Given the description of an element on the screen output the (x, y) to click on. 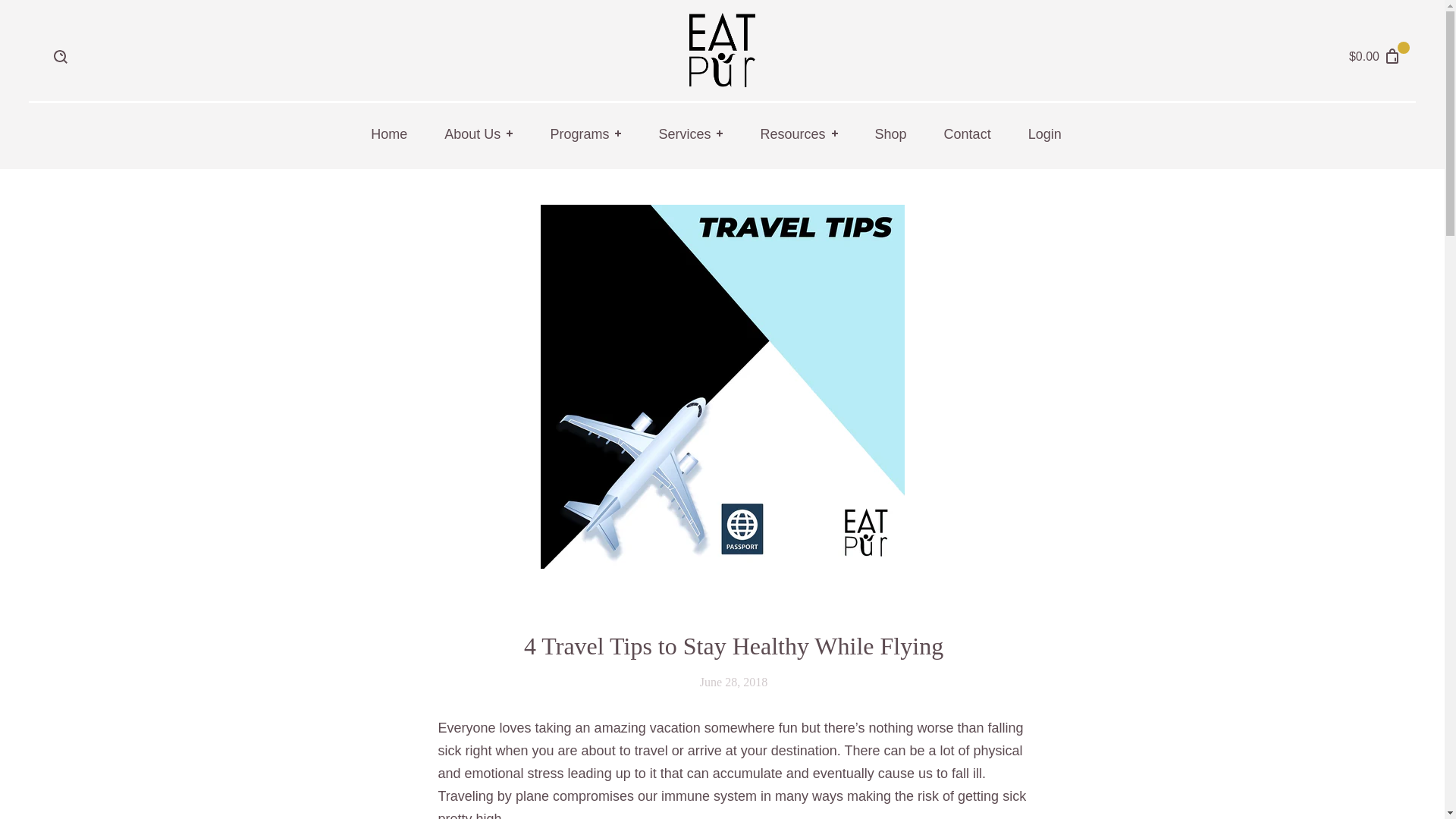
Login (1118, 363)
Services (690, 134)
Shop (891, 134)
Login (1050, 134)
Programs (584, 134)
Contact (967, 134)
Resources (797, 134)
About Us (478, 134)
Home (388, 134)
